Given the description of an element on the screen output the (x, y) to click on. 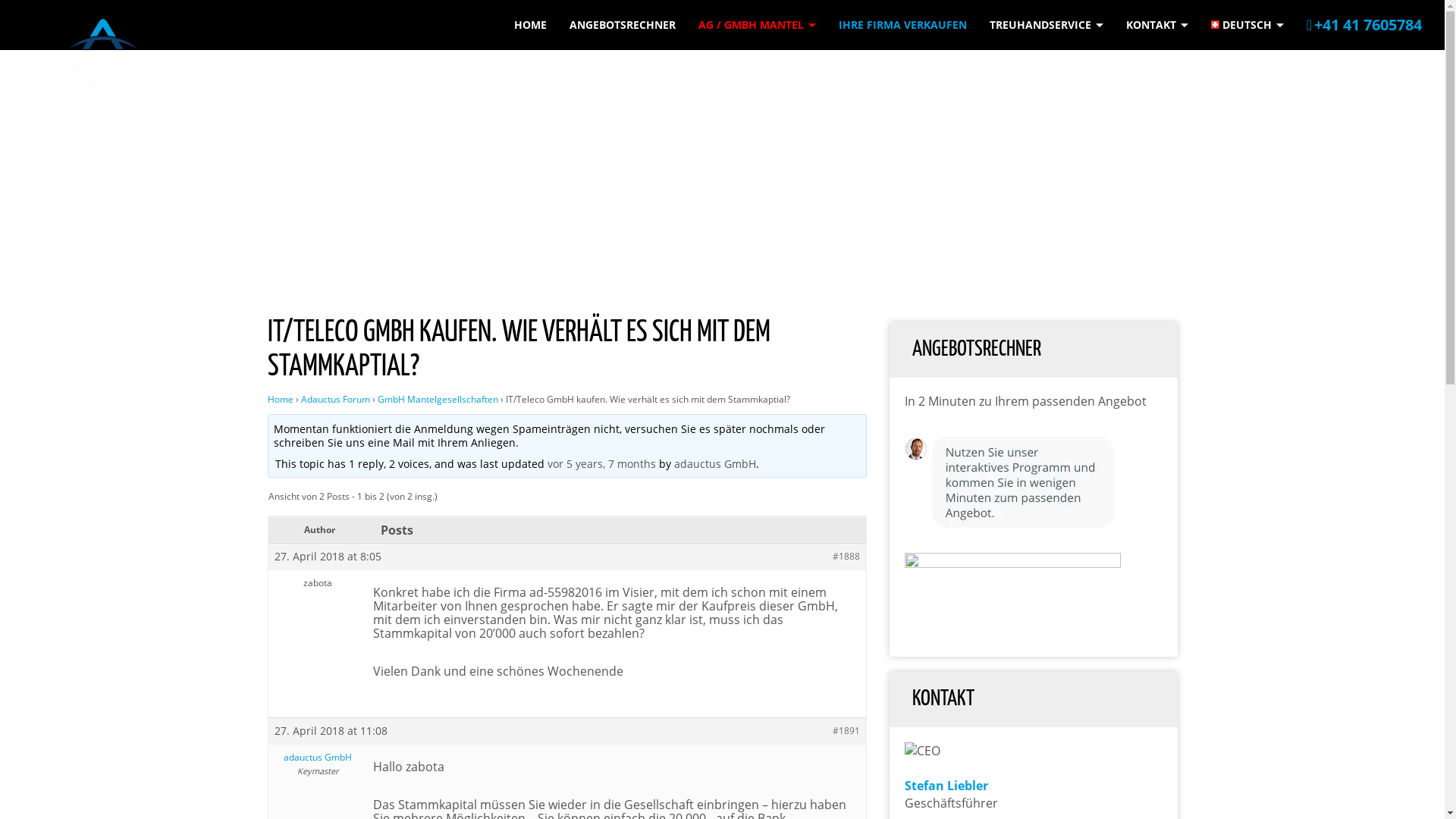
DEUTSCH Element type: text (1247, 24)
Adauctus Forum Element type: text (334, 398)
+41 41 7605784 Element type: text (1364, 24)
adauctus GmbH Element type: text (317, 757)
HOME Element type: text (529, 24)
IHRE FIRMA VERKAUFEN Element type: text (901, 24)
Home Element type: text (279, 398)
ANGEBOTSRECHNER Element type: text (622, 24)
#1888 Element type: text (845, 556)
AG / GMBH MANTEL Element type: text (757, 24)
GmbH Mantelgesellschaften Element type: text (437, 398)
TREUHANDSERVICE Element type: text (1046, 24)
KONTAKT Element type: text (1156, 24)
adauctus GmbH Element type: text (715, 463)
#1891 Element type: text (845, 730)
vor 5 years, 7 months Element type: text (601, 463)
